Given the description of an element on the screen output the (x, y) to click on. 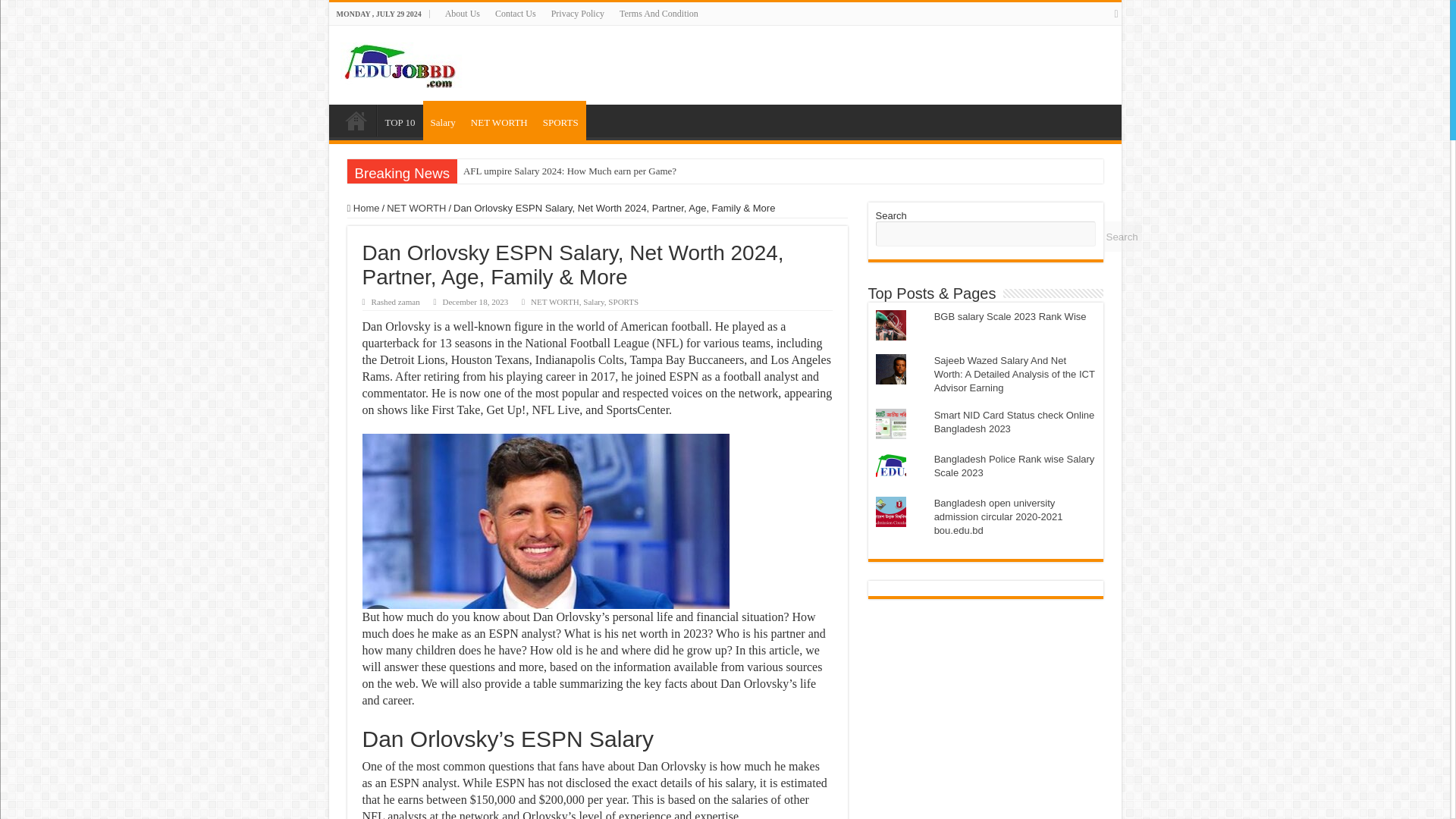
Search (1121, 236)
Home (355, 120)
Terms And Condition (658, 13)
BGB salary Scale 2023 Rank Wise (1010, 316)
AFL umpire Salary 2024: How Much earn per Game? (569, 170)
NET WORTH (416, 207)
TOP 10 (398, 120)
Smart NID Card Status check Online Bangladesh 2023 (1014, 421)
BGB salary Scale 2023 Rank Wise (1010, 316)
 Back To Homepage (355, 120)
Privacy Policy (577, 13)
Salary (443, 120)
Home (363, 207)
Edu Job Bd (411, 61)
Rashed zaman (395, 301)
